Given the description of an element on the screen output the (x, y) to click on. 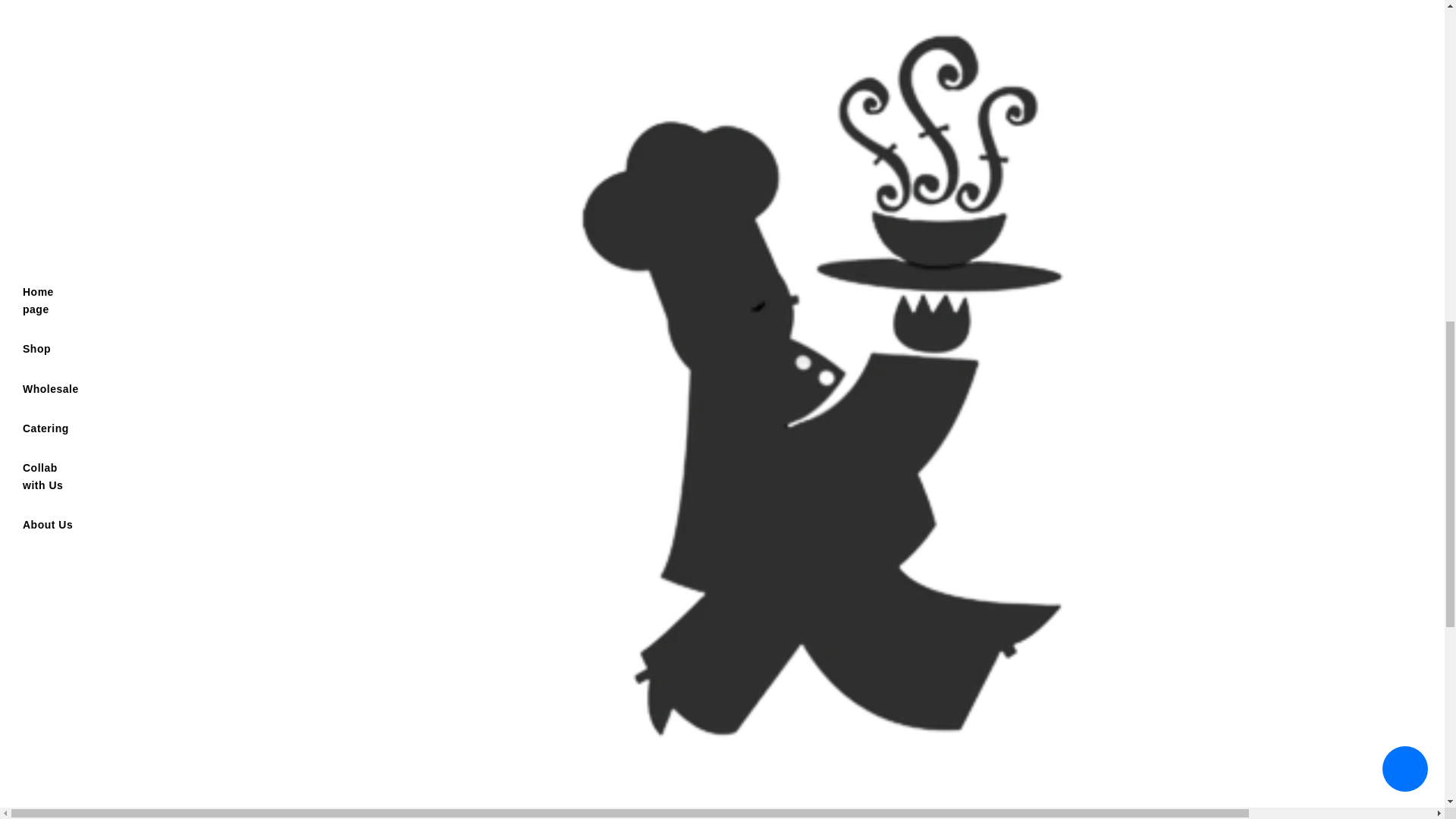
1 (796, 432)
